Given the description of an element on the screen output the (x, y) to click on. 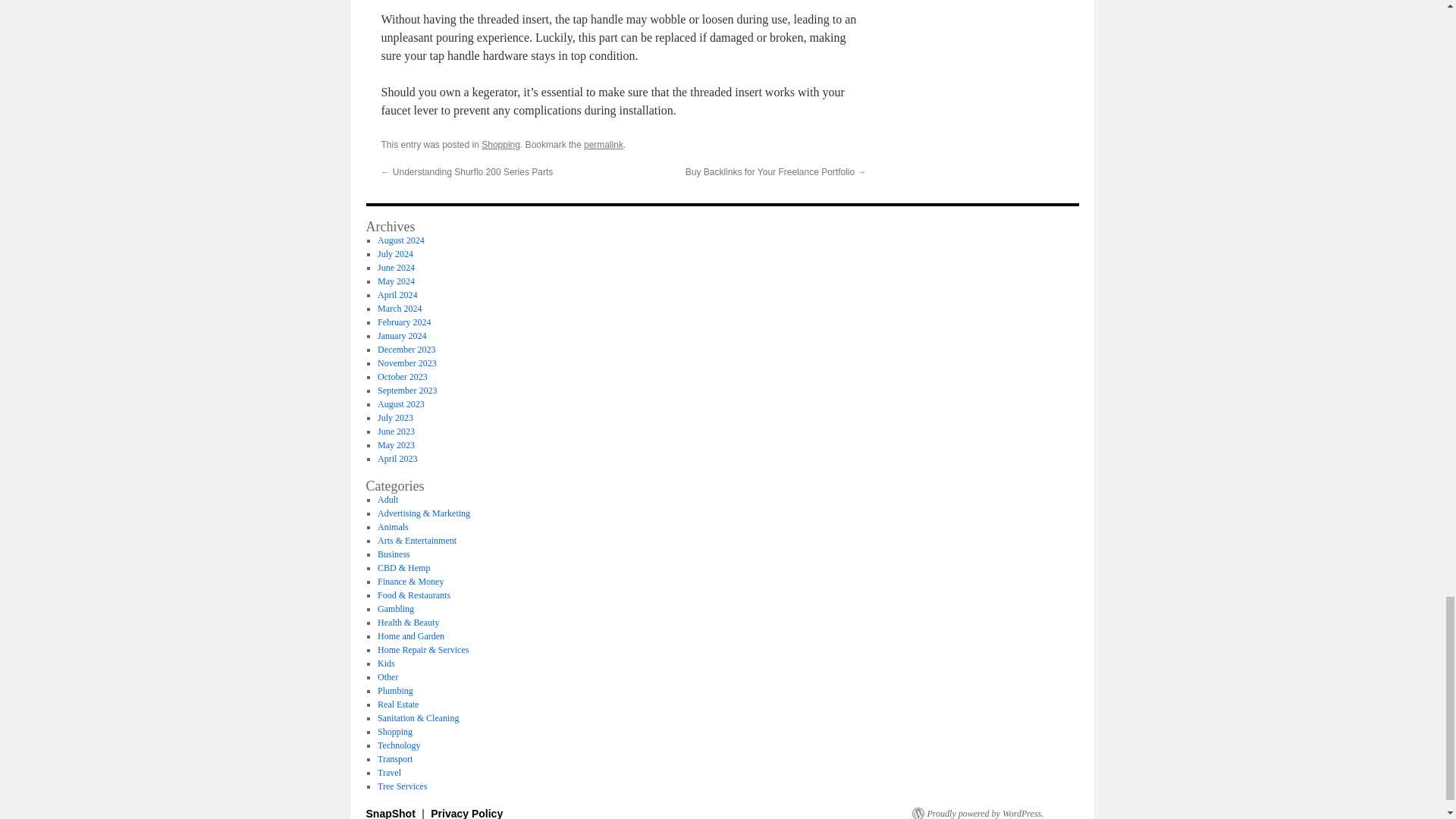
April 2024 (396, 294)
August 2023 (401, 403)
May 2024 (395, 281)
October 2023 (402, 376)
March 2024 (399, 308)
Shopping (500, 144)
August 2024 (401, 240)
June 2024 (395, 267)
November 2023 (406, 362)
